Given the description of an element on the screen output the (x, y) to click on. 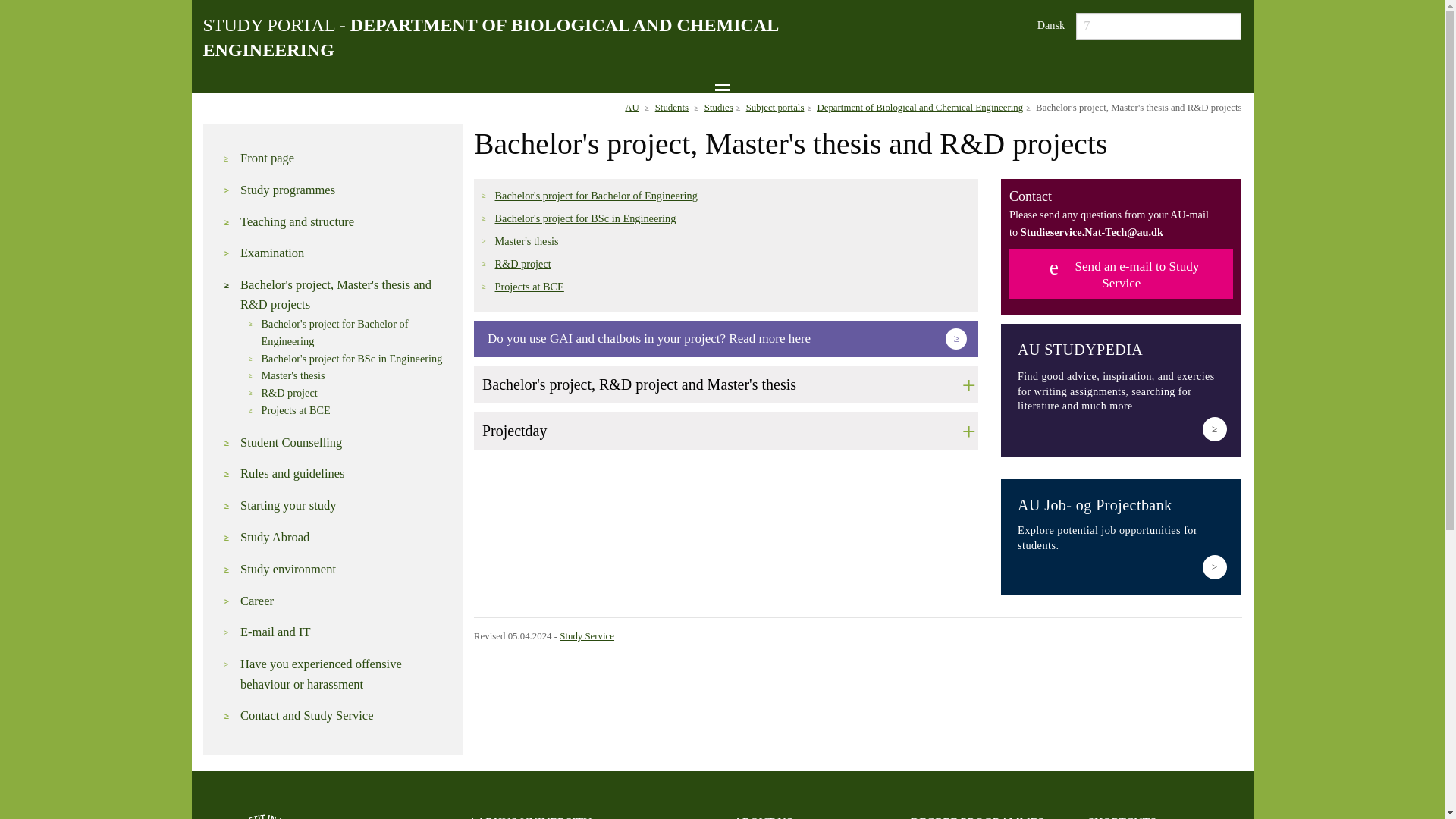
Teaching and structure (342, 221)
Study programmes (342, 189)
AU (631, 107)
Send an e-mail to Study Service (1121, 273)
Projects at BCE (352, 410)
Starting your study (342, 505)
Front page (342, 158)
Student Counselling (342, 442)
E-mail and IT (342, 632)
Projects at BCE (529, 286)
